Given the description of an element on the screen output the (x, y) to click on. 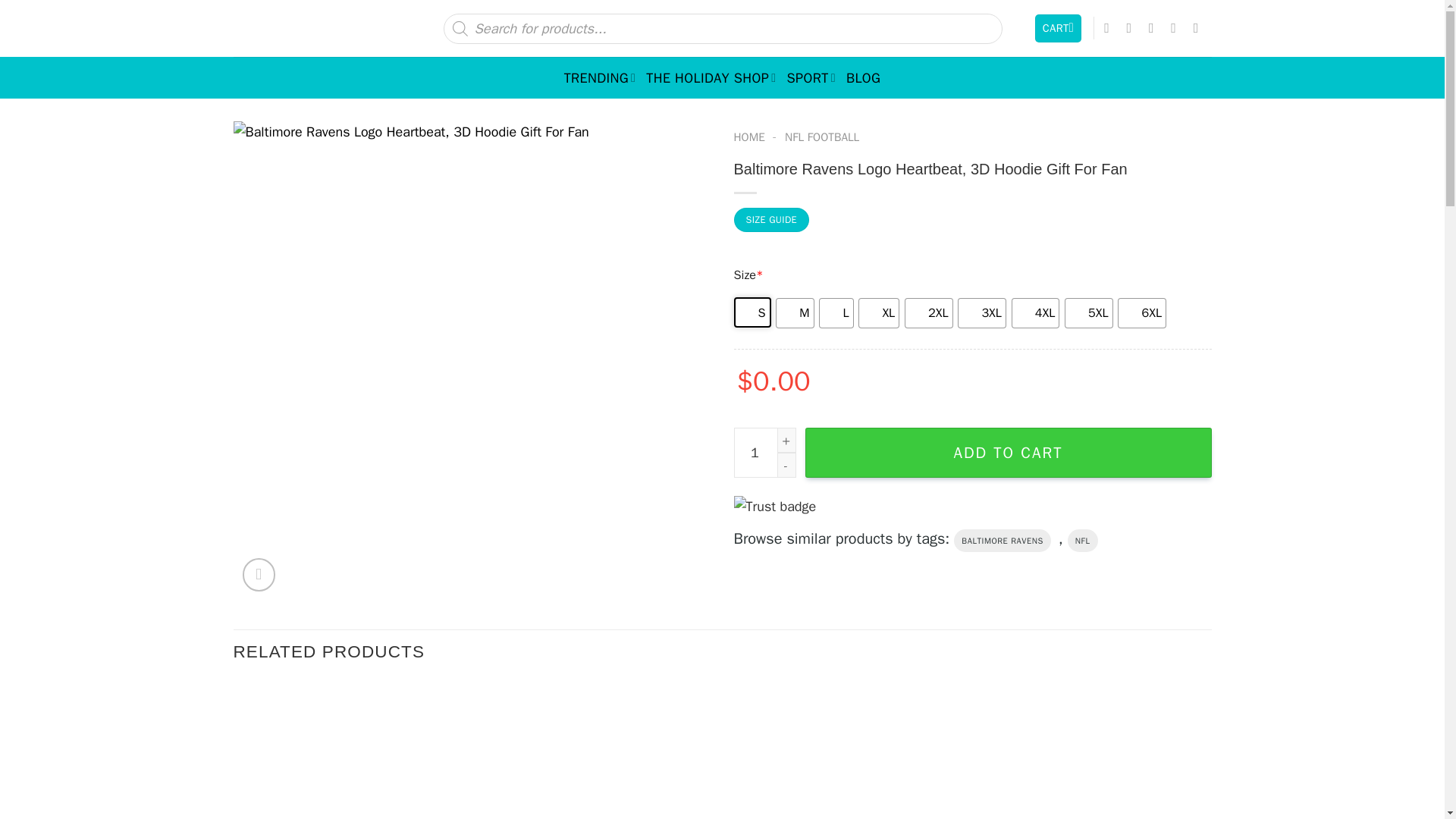
3XL (982, 313)
HOME (749, 136)
NFL FOOTBALL (821, 136)
Zoom (259, 574)
TRENDING (600, 77)
1 (764, 452)
S (752, 312)
2XL (928, 313)
XL (879, 313)
SPORT (811, 77)
